Given the description of an element on the screen output the (x, y) to click on. 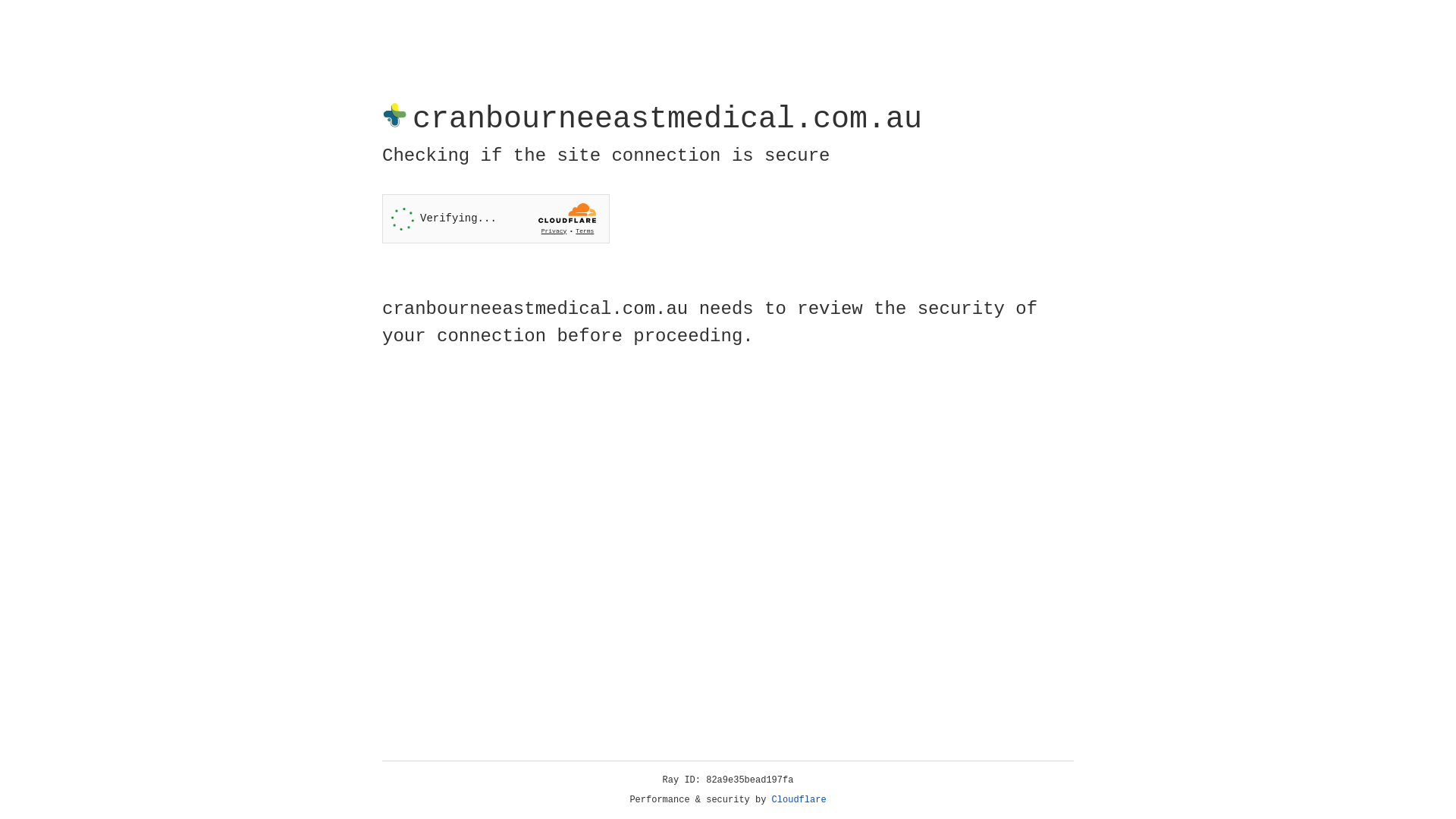
Cloudflare Element type: text (798, 799)
Widget containing a Cloudflare security challenge Element type: hover (495, 218)
